Given the description of an element on the screen output the (x, y) to click on. 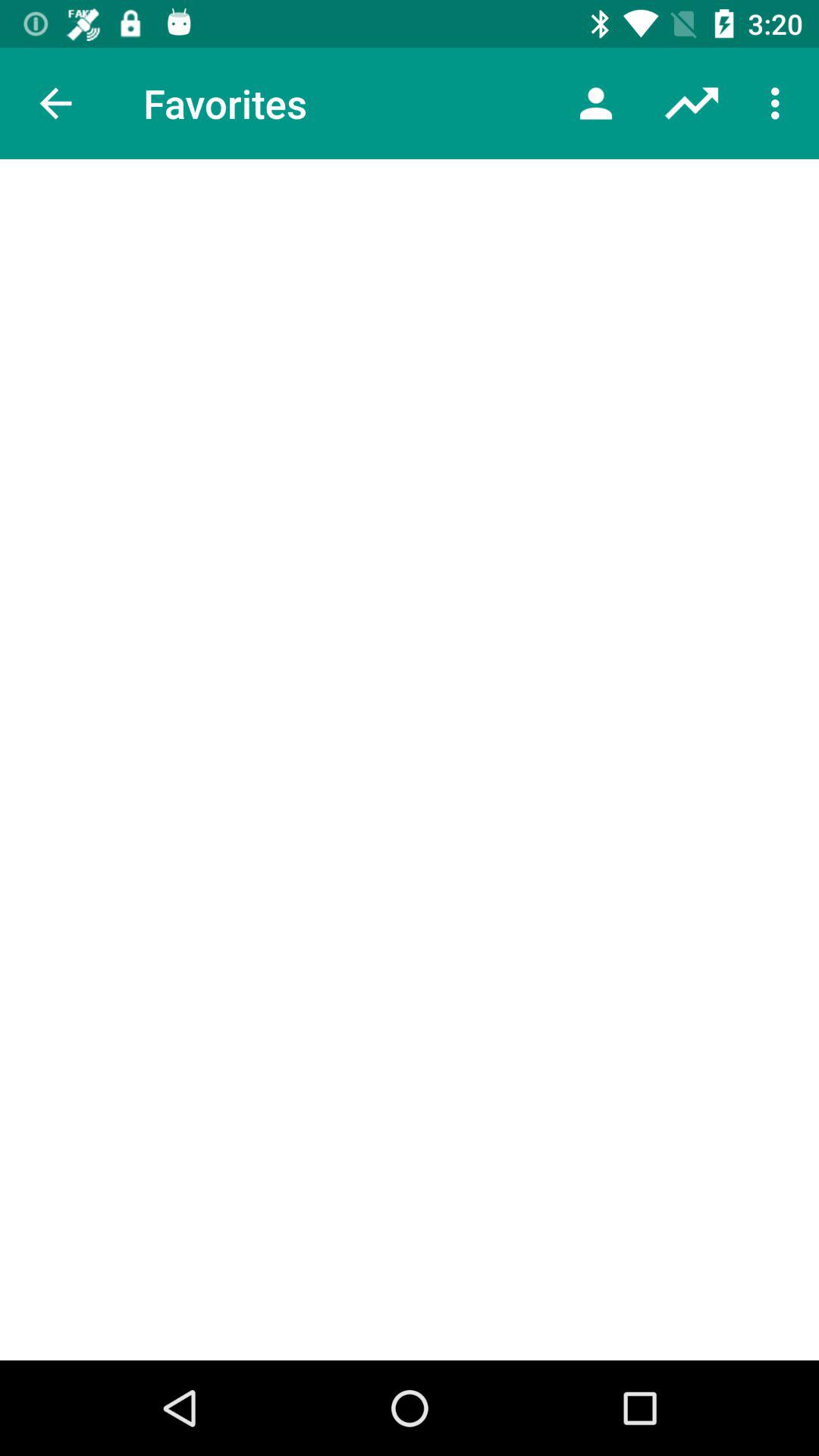
turn on the item next to the favorites icon (55, 103)
